Given the description of an element on the screen output the (x, y) to click on. 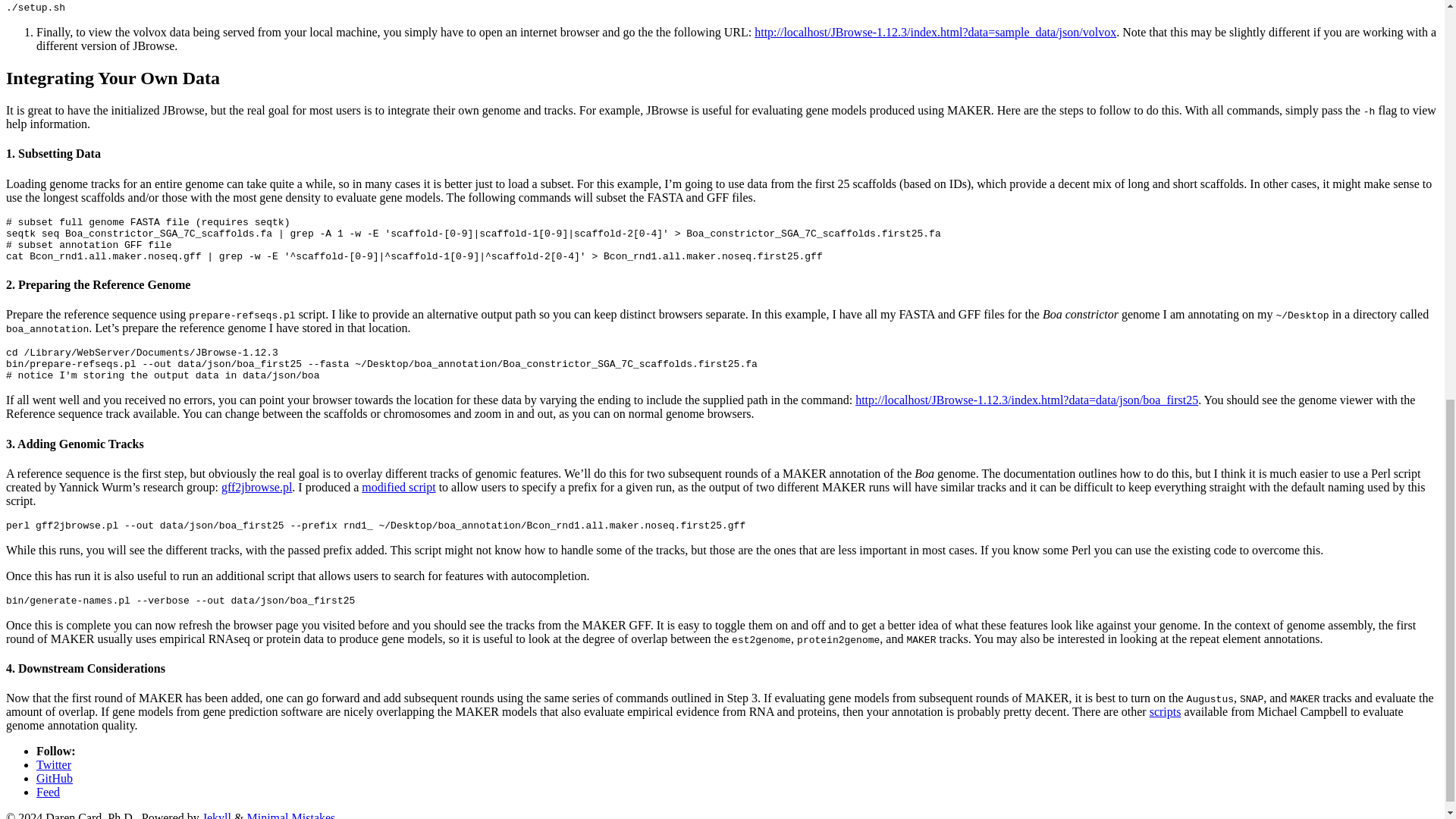
scripts (1165, 711)
Twitter (53, 764)
gff2jbrowse.pl (256, 486)
GitHub (54, 778)
modified script (398, 486)
Feed (47, 791)
